Given the description of an element on the screen output the (x, y) to click on. 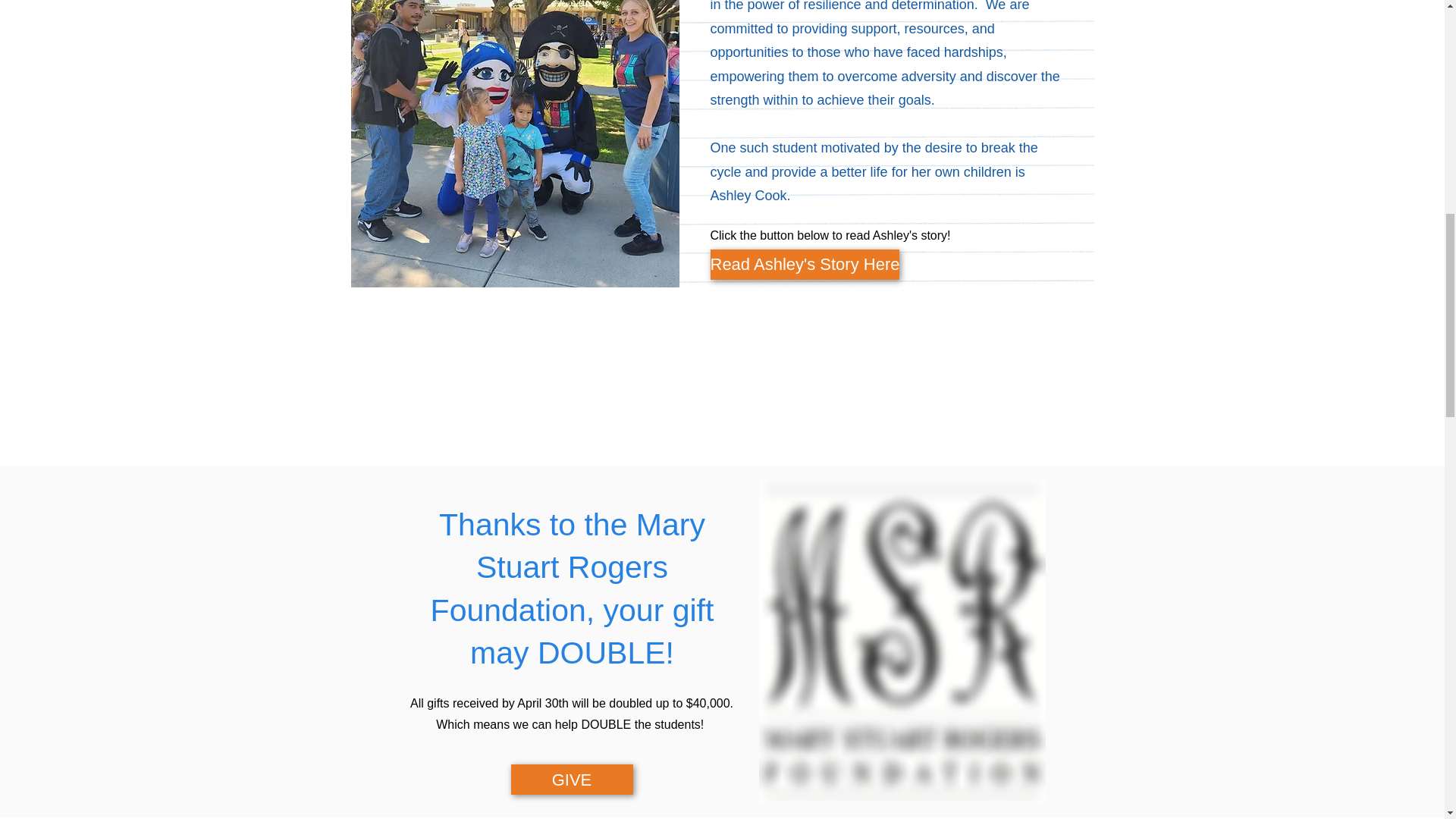
GIVE (572, 779)
Read Ashley's Story Here (804, 264)
